Given the description of an element on the screen output the (x, y) to click on. 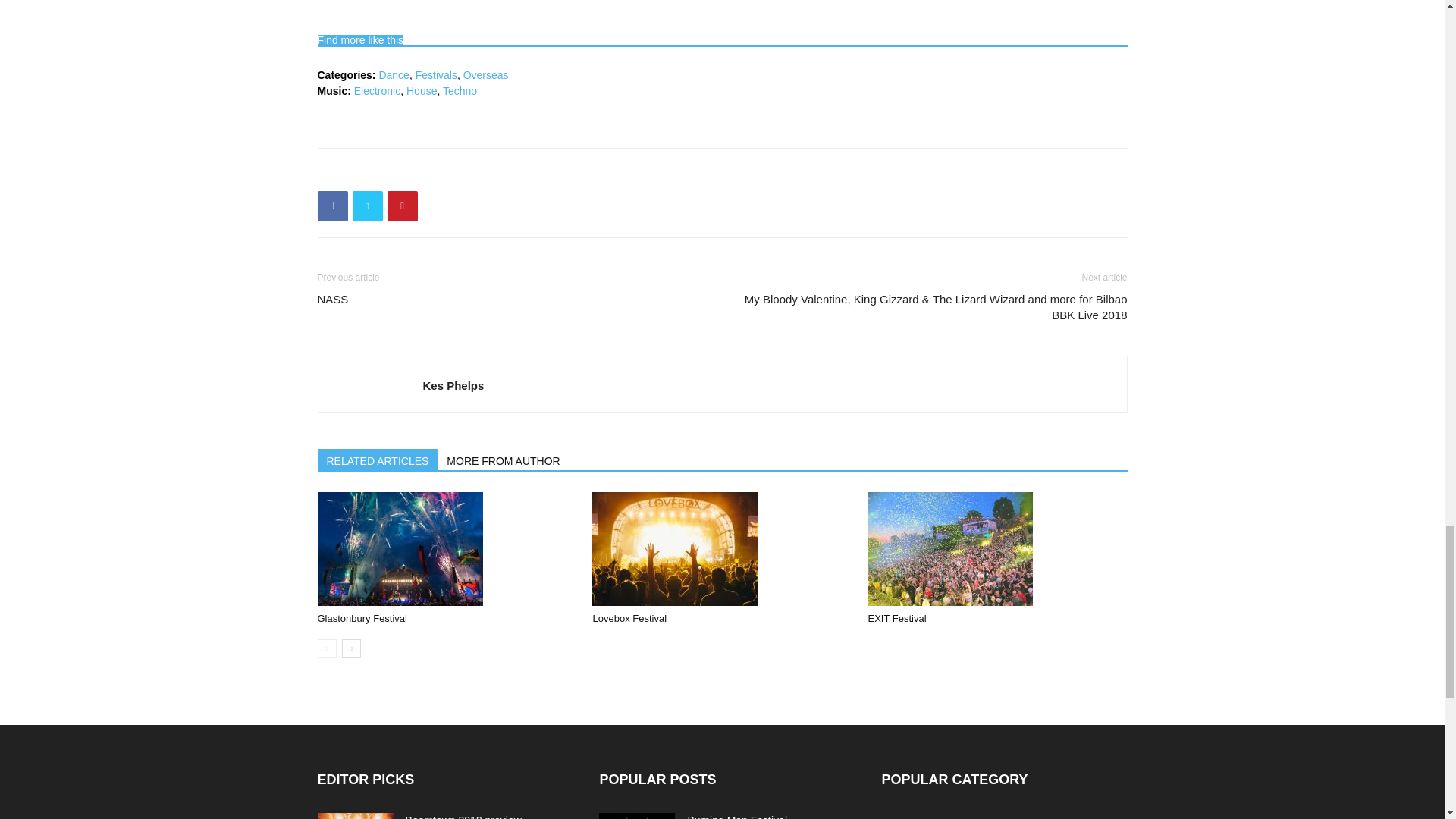
Lovebox Festival (629, 618)
EXIT Festival (949, 549)
Electronic (376, 91)
Overseas (485, 74)
EXIT Festival (896, 618)
Glastonbury Festival (362, 618)
Festivals (435, 74)
House (421, 91)
Glastonbury Festival (399, 549)
Glastonbury Festival (446, 549)
EXIT Festival (996, 549)
Dance (393, 74)
Lovebox Festival (674, 549)
Lovebox Festival (721, 549)
